Given the description of an element on the screen output the (x, y) to click on. 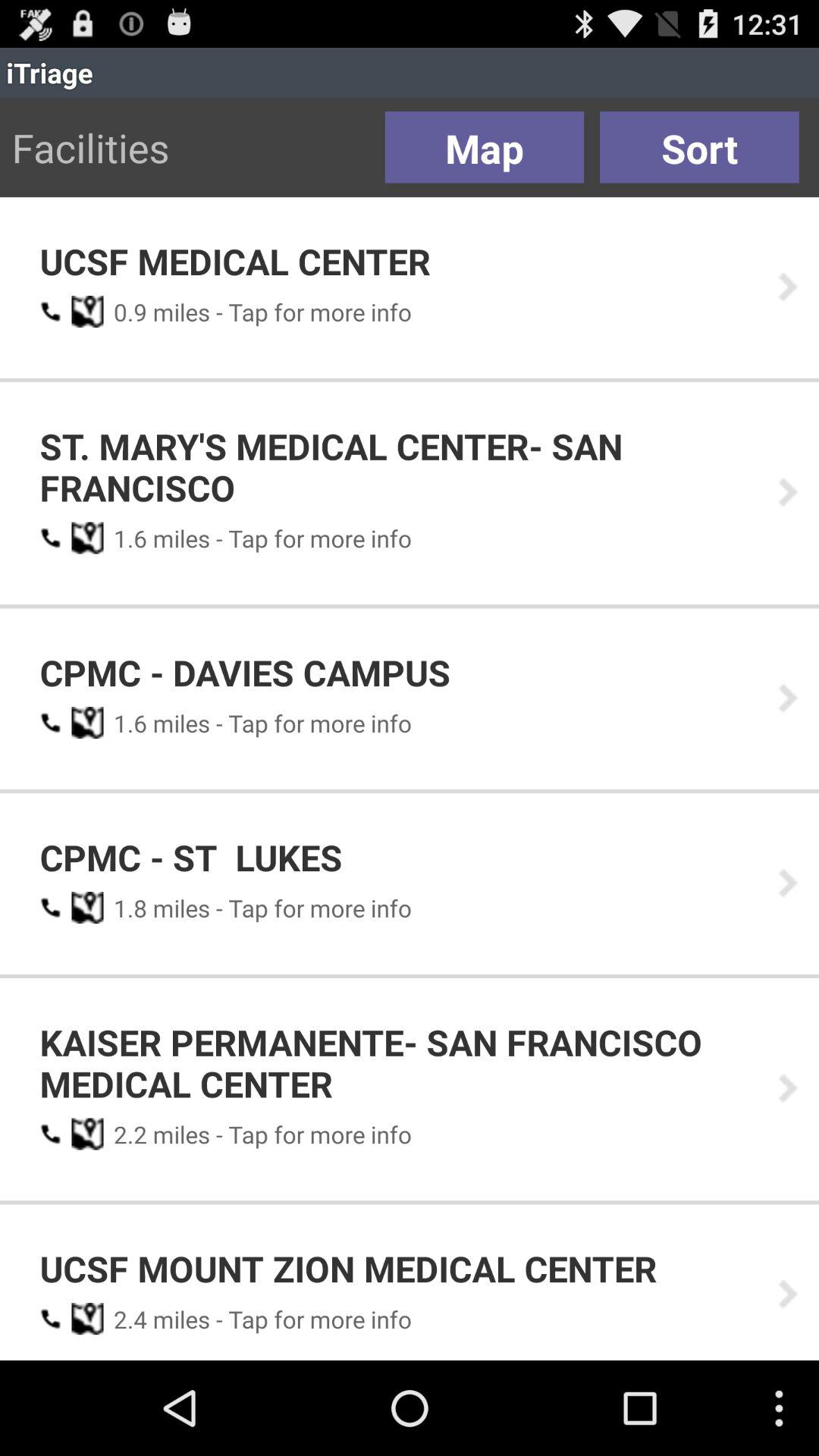
choose 0.9 item (125, 311)
